Given the description of an element on the screen output the (x, y) to click on. 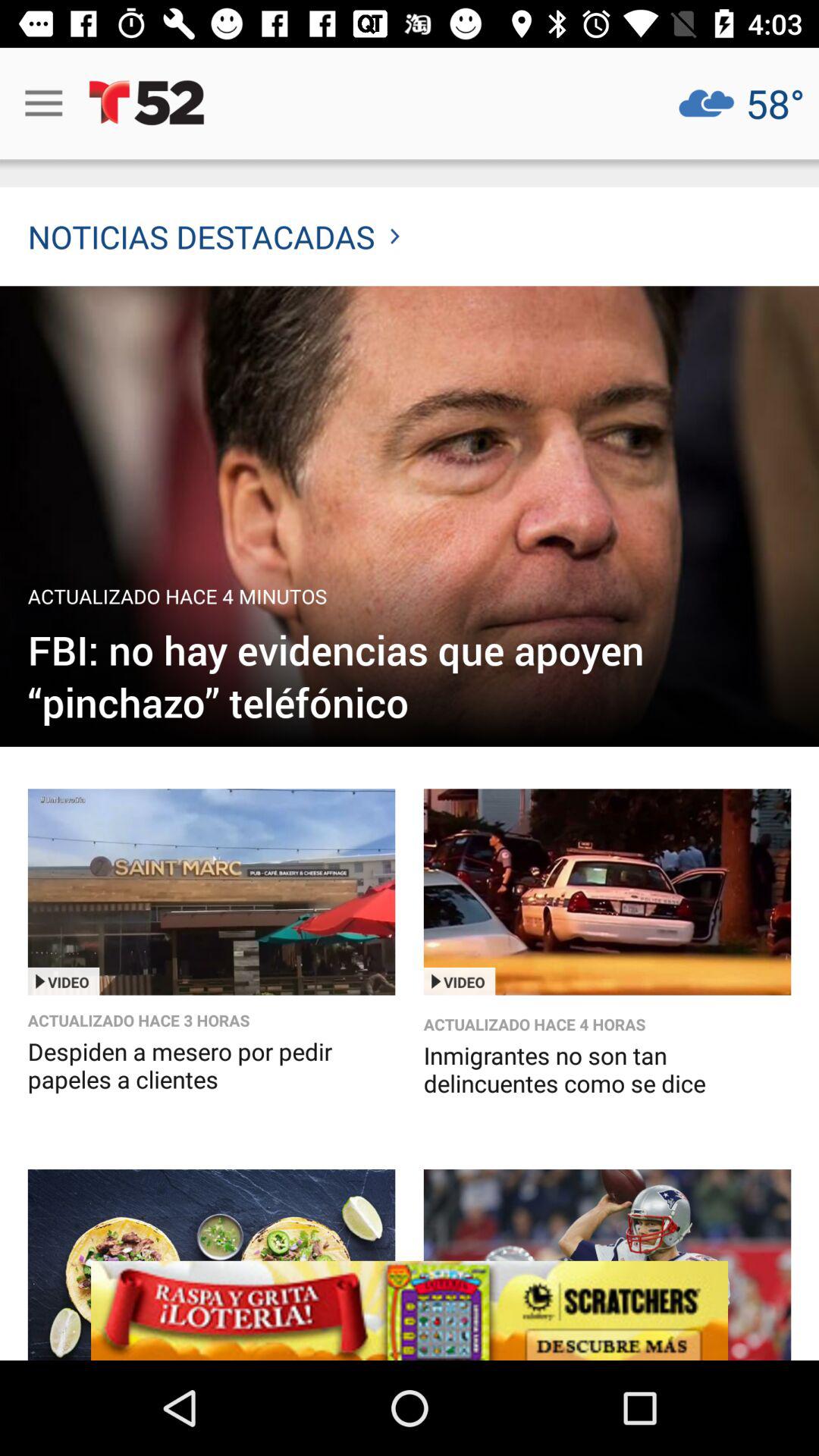
turn on icon below the inmigrantes no son icon (409, 1310)
